Given the description of an element on the screen output the (x, y) to click on. 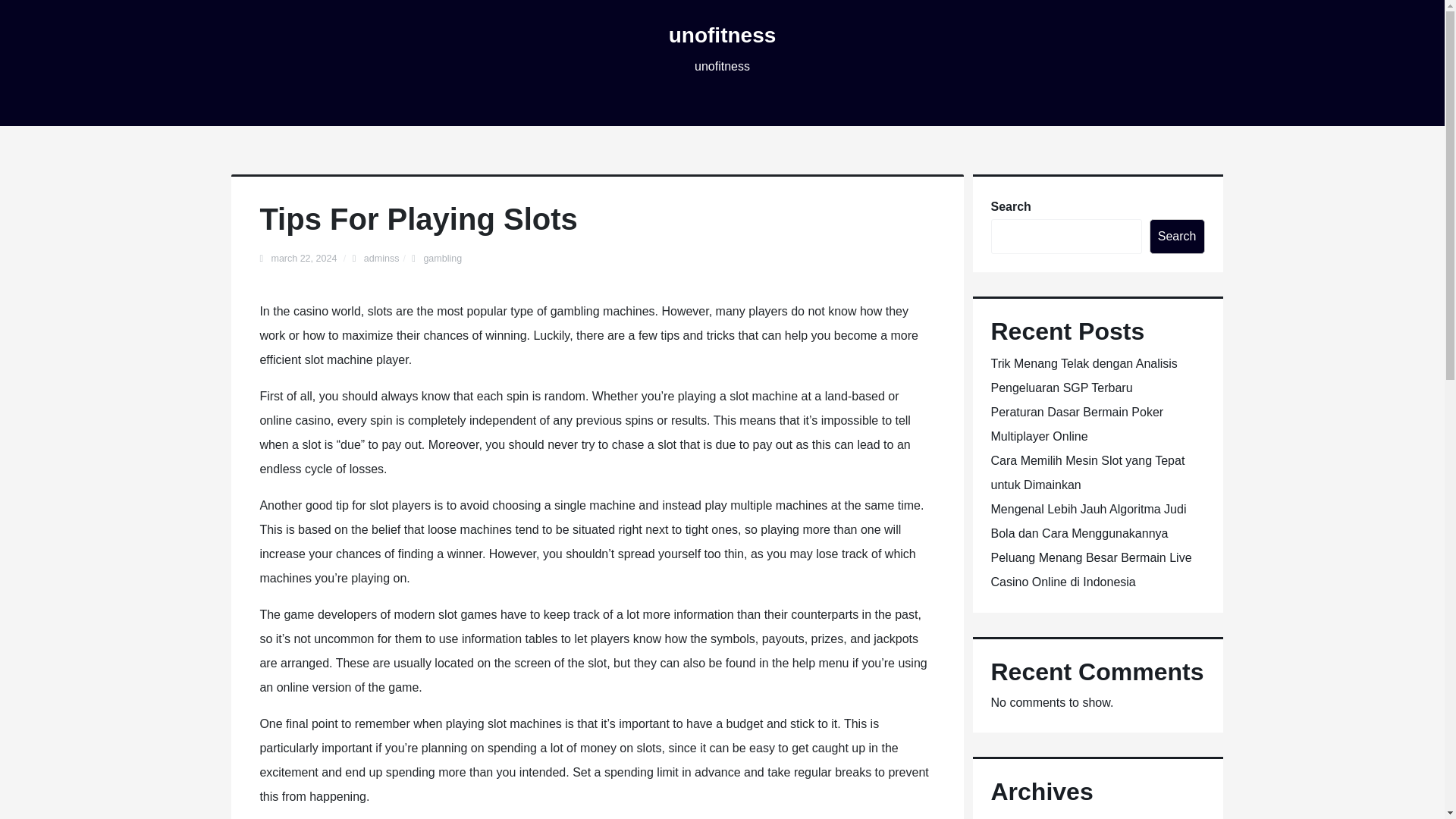
march 22, 2024 (304, 258)
Peluang Menang Besar Bermain Live Casino Online di Indonesia (1090, 569)
unofitness (722, 34)
Trik Menang Telak dengan Analisis Pengeluaran SGP Terbaru (1083, 375)
Search (1177, 236)
August 2024 (1024, 818)
Peraturan Dasar Bermain Poker Multiplayer Online (1076, 424)
Cara Memilih Mesin Slot yang Tepat untuk Dimainkan (1087, 472)
gambling (442, 258)
